Given the description of an element on the screen output the (x, y) to click on. 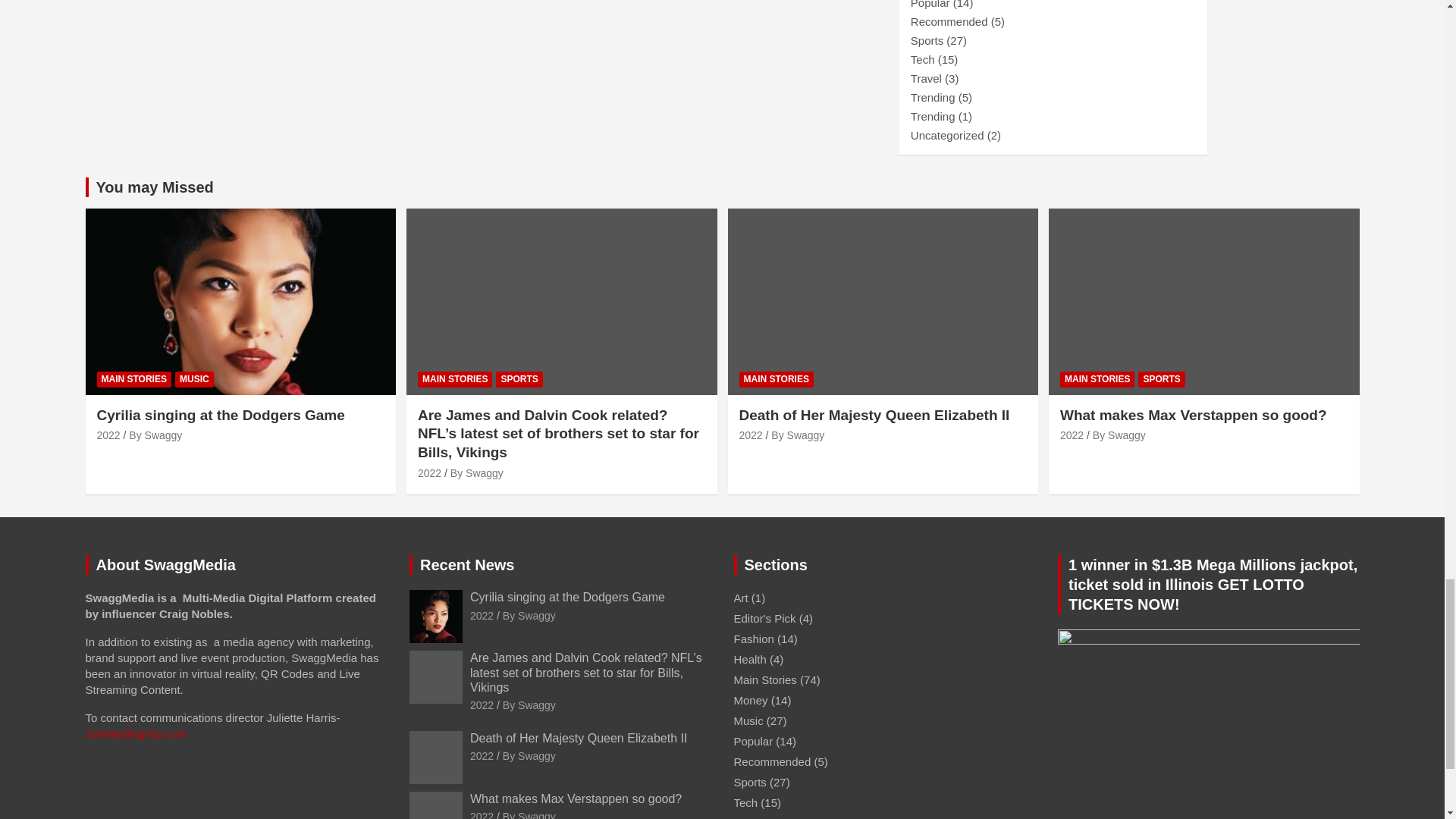
Death of Her Majesty Queen Elizabeth II (481, 756)
What makes Max Verstappen so good? (1071, 435)
Death of Her Majesty Queen Elizabeth II (749, 435)
Cyrilia singing at the Dodgers Game (481, 615)
Cyrilia singing at the Dodgers Game (108, 435)
What makes Max Verstappen so good? (481, 814)
